Given the description of an element on the screen output the (x, y) to click on. 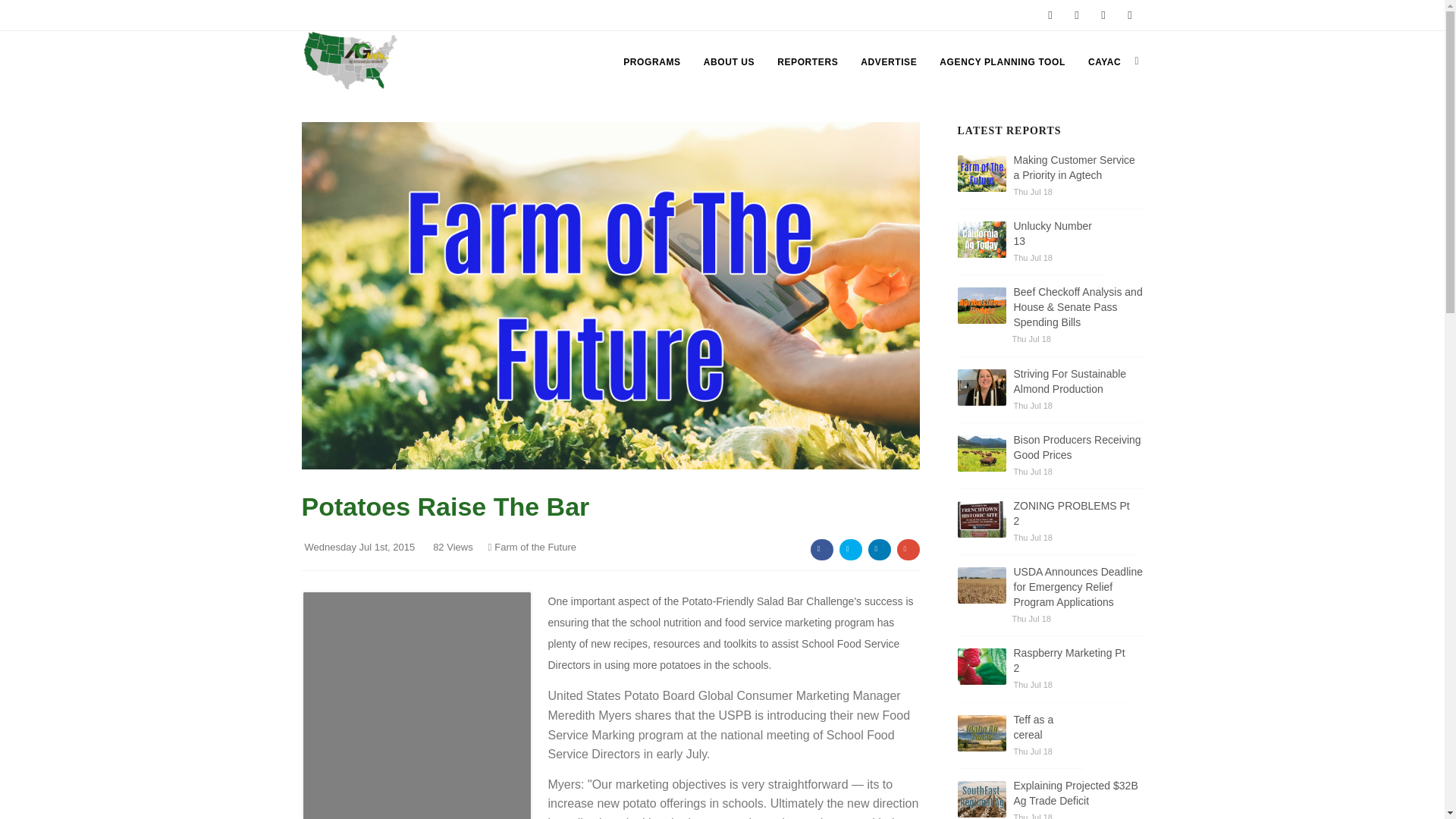
ABOUT US (728, 62)
PROGRAMS (651, 62)
